Given the description of an element on the screen output the (x, y) to click on. 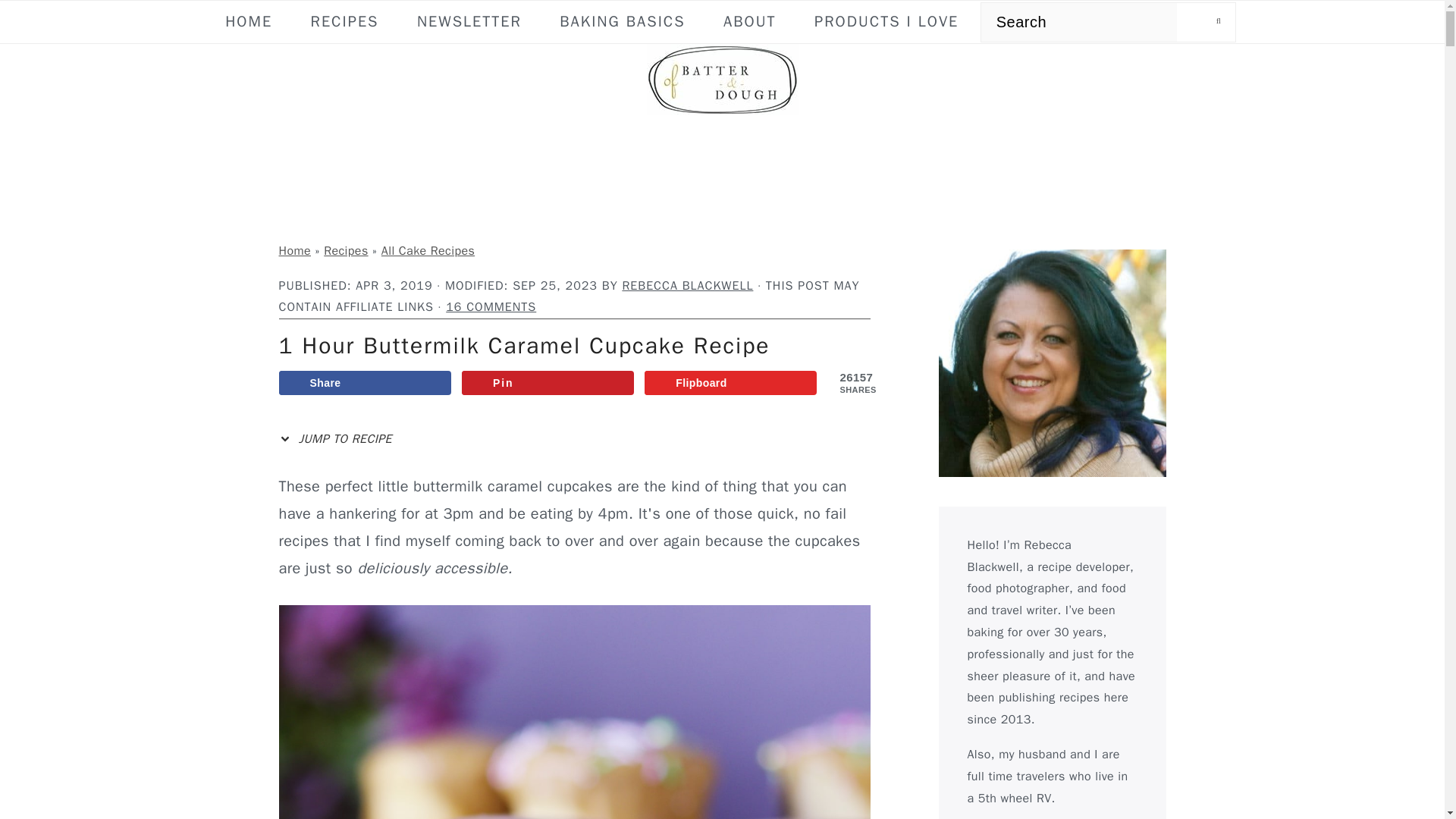
NEWSLETTER (469, 22)
Share on Facebook (365, 382)
Save to Pinterest (547, 382)
Home (295, 250)
BAKING BASICS (622, 22)
Share (365, 382)
Recipes (345, 250)
HOME (248, 22)
PRODUCTS I LOVE (886, 22)
Share on Flipboard (730, 382)
ABOUT (749, 22)
REBECCA BLACKWELL (686, 285)
JUMP TO RECIPE (338, 438)
RECIPES (344, 22)
Flipboard (730, 382)
